Given the description of an element on the screen output the (x, y) to click on. 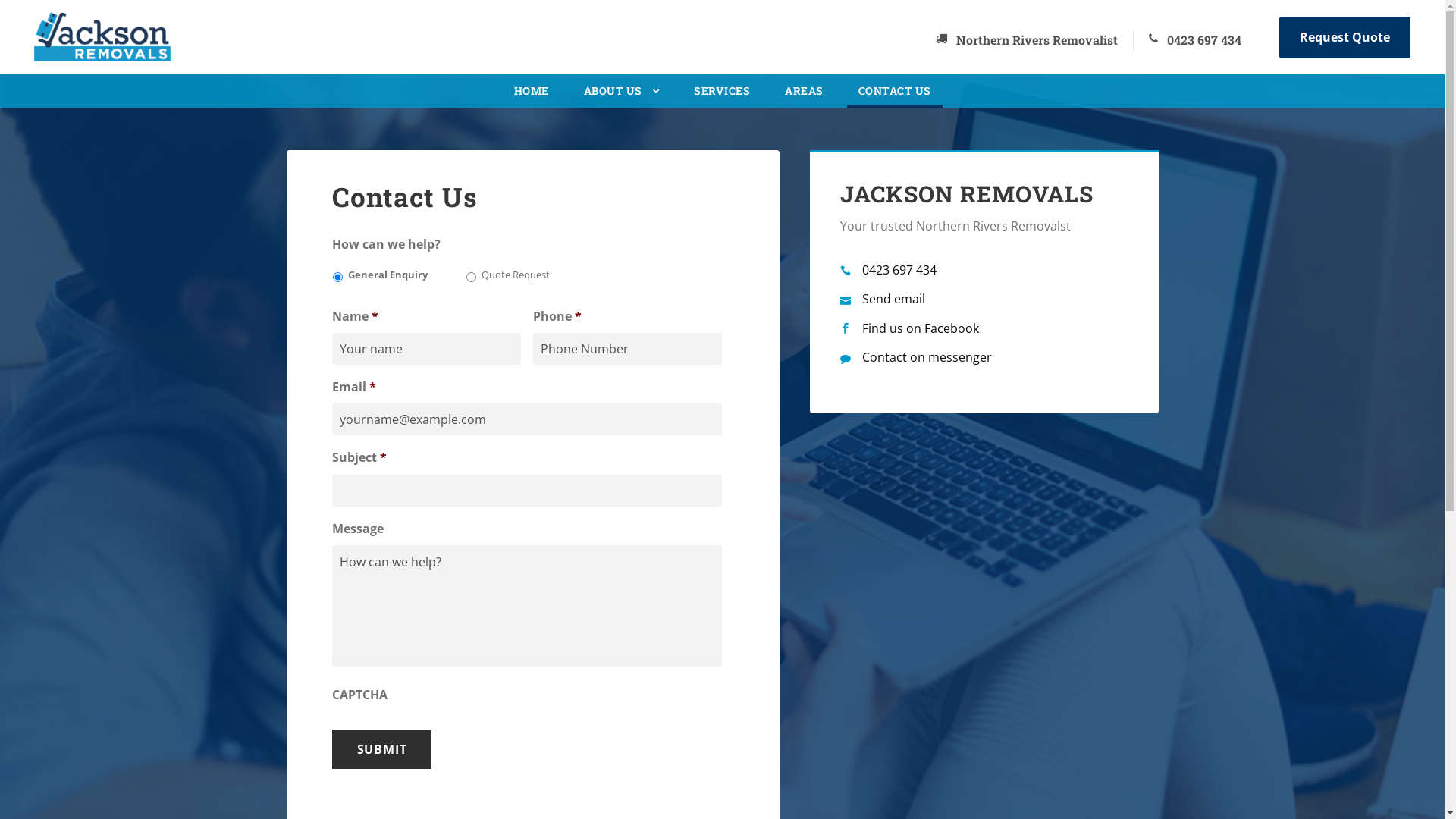
SERVICES Element type: text (721, 94)
Request Quote Element type: text (1344, 37)
Submit Element type: text (382, 748)
ABOUT US Element type: text (621, 94)
General Enquiry Element type: text (337, 277)
Quote Request Element type: text (471, 277)
AREAS Element type: text (803, 94)
HOME Element type: text (531, 94)
CONTACT US Element type: text (894, 94)
Send email Element type: text (882, 297)
Find us on Facebook Element type: text (909, 327)
Contact on messenger Element type: text (915, 356)
0423 697 434 Element type: text (888, 268)
